Given the description of an element on the screen output the (x, y) to click on. 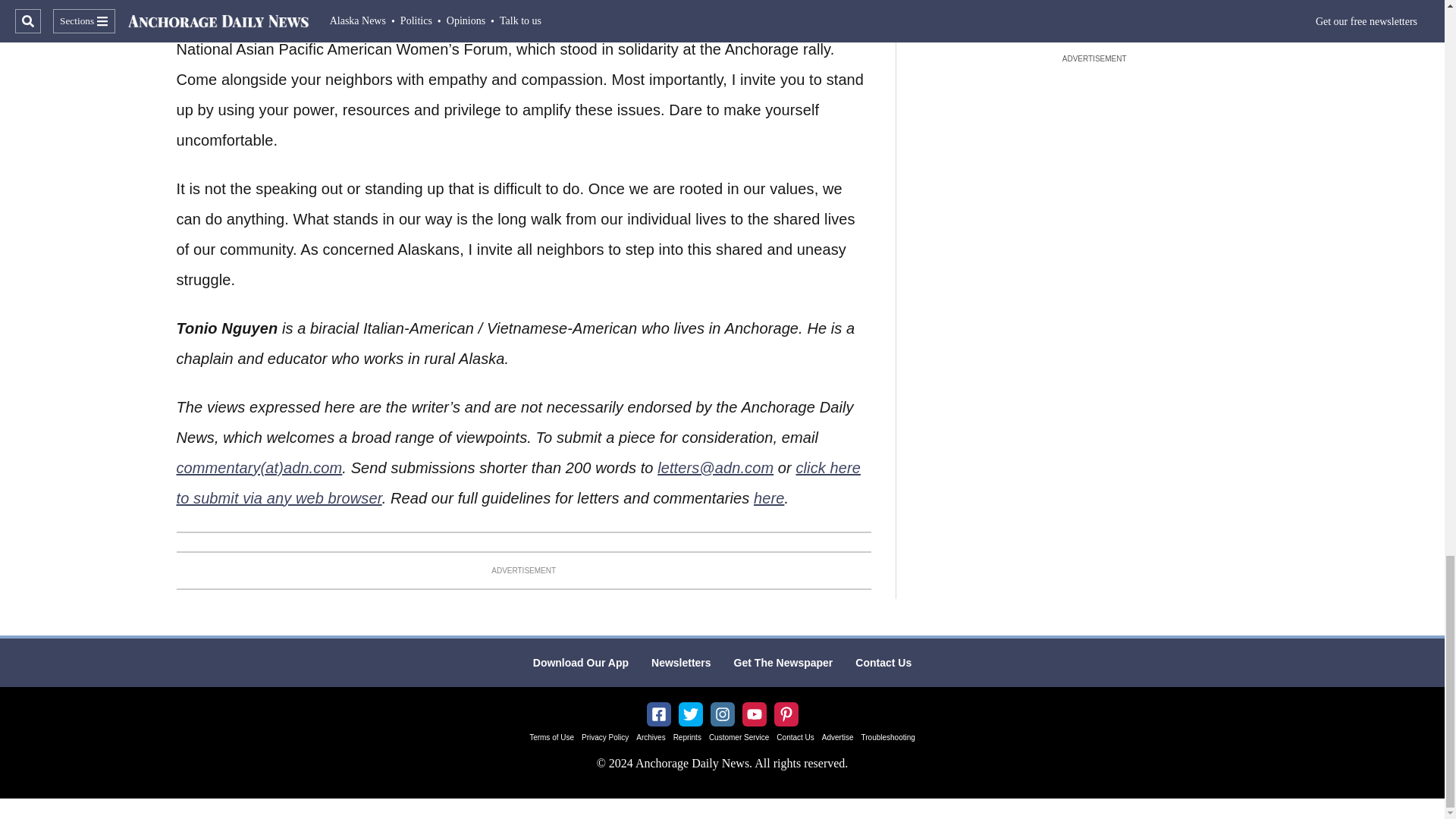
Twitter IconTwitter Account for Anchorage Daily News (689, 713)
PinterestAnchorage Daily News Pinterest Account (785, 713)
Instagram IconAnchorage Daily News instagram account (721, 713)
YouTube iconAnchorage Daily News YouTube channel (753, 713)
Facebook IconAnchorage Daily News Facebook Page (657, 713)
